Given the description of an element on the screen output the (x, y) to click on. 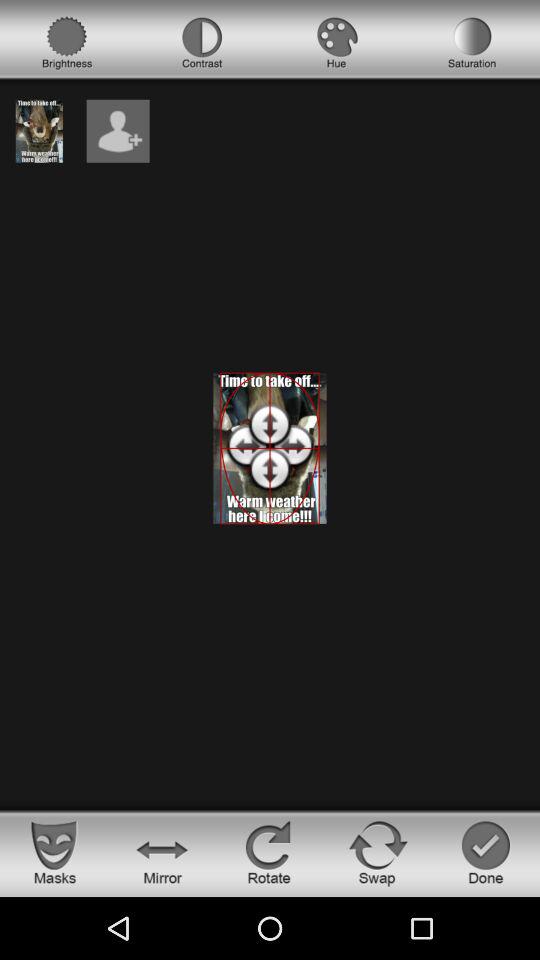
mirror image (161, 852)
